Given the description of an element on the screen output the (x, y) to click on. 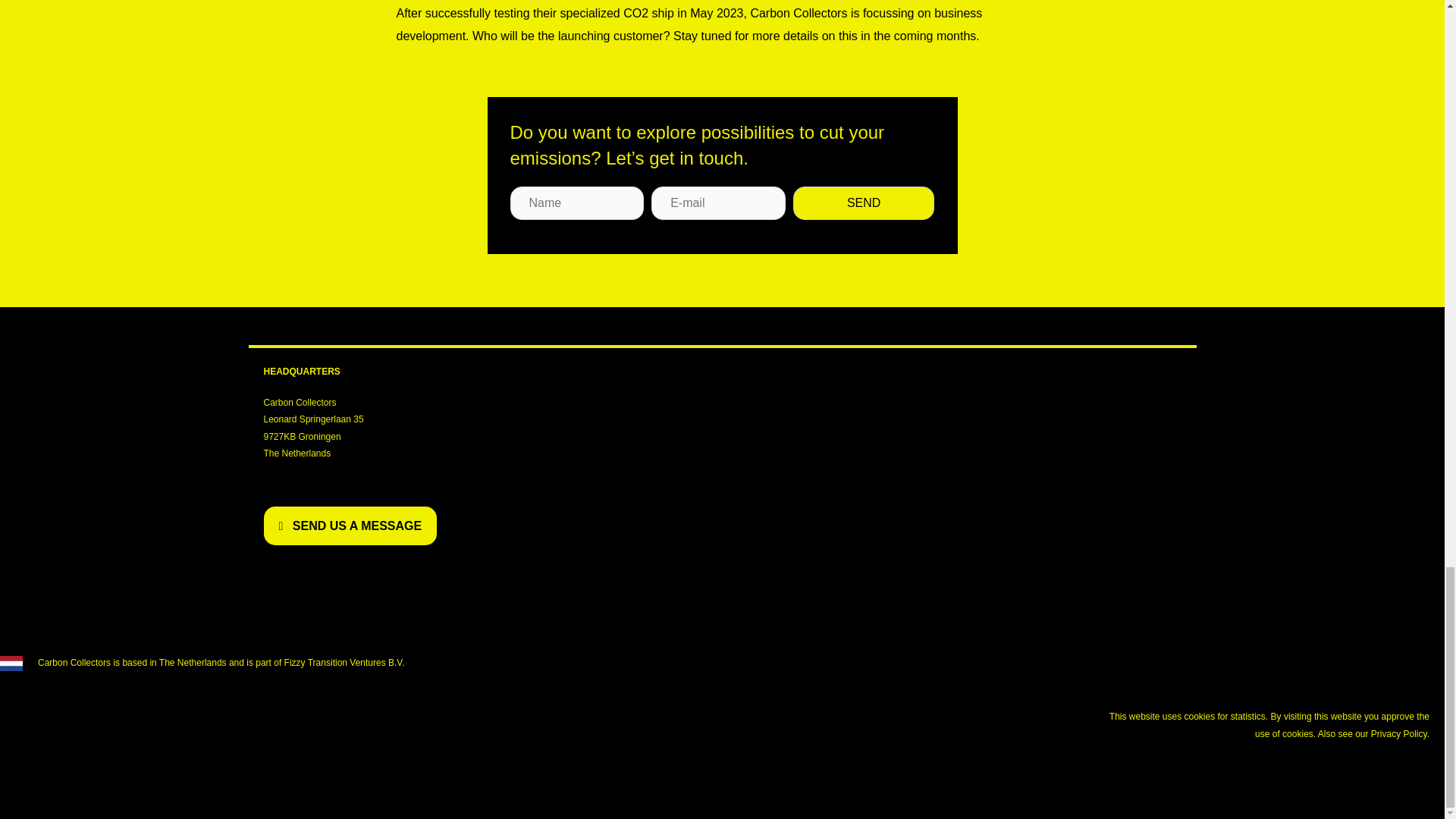
SEND (863, 203)
SEND US A MESSAGE (350, 525)
CC - NL (11, 663)
